Given the description of an element on the screen output the (x, y) to click on. 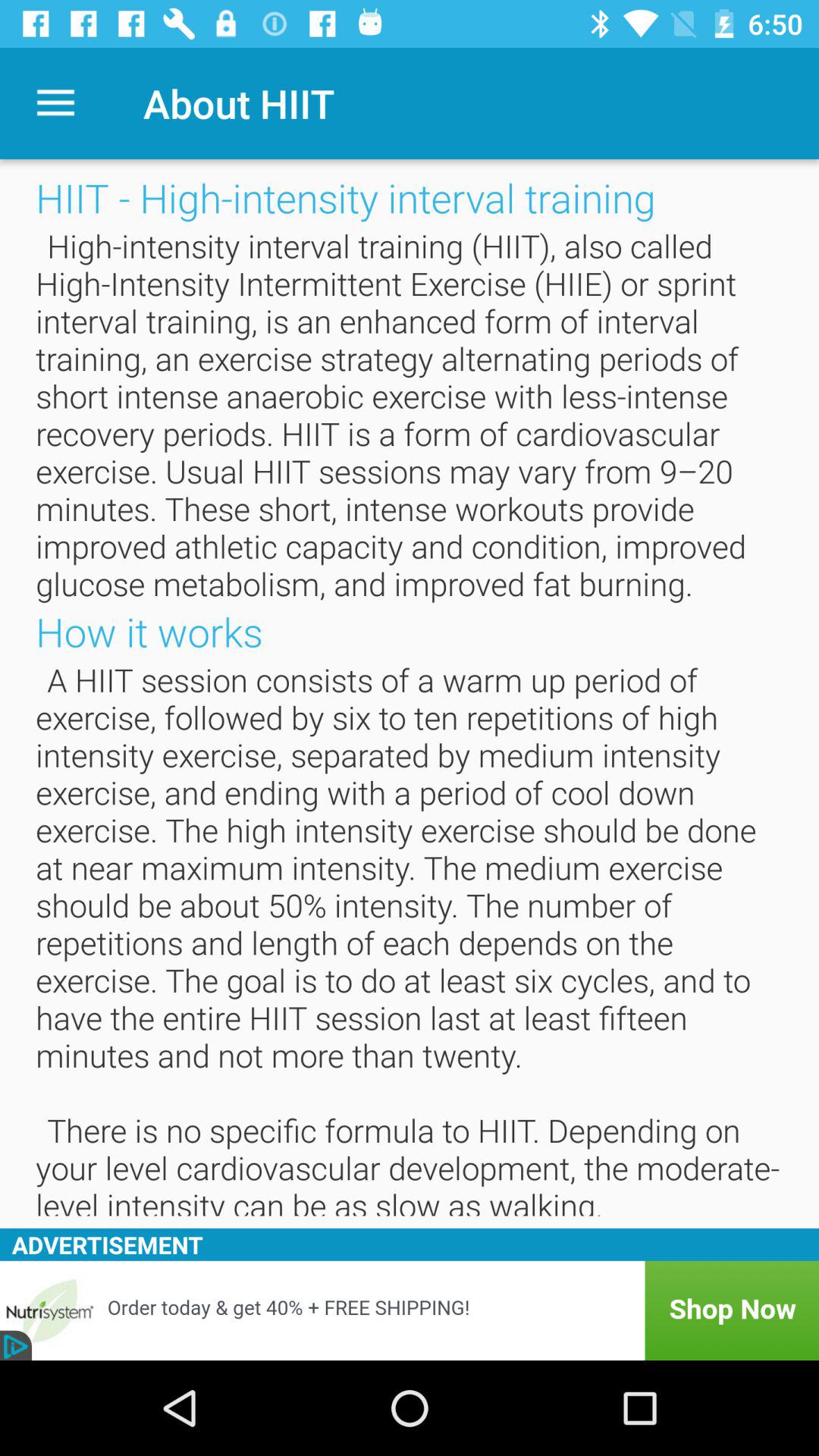
turn off icon below the advertisement (409, 1310)
